Given the description of an element on the screen output the (x, y) to click on. 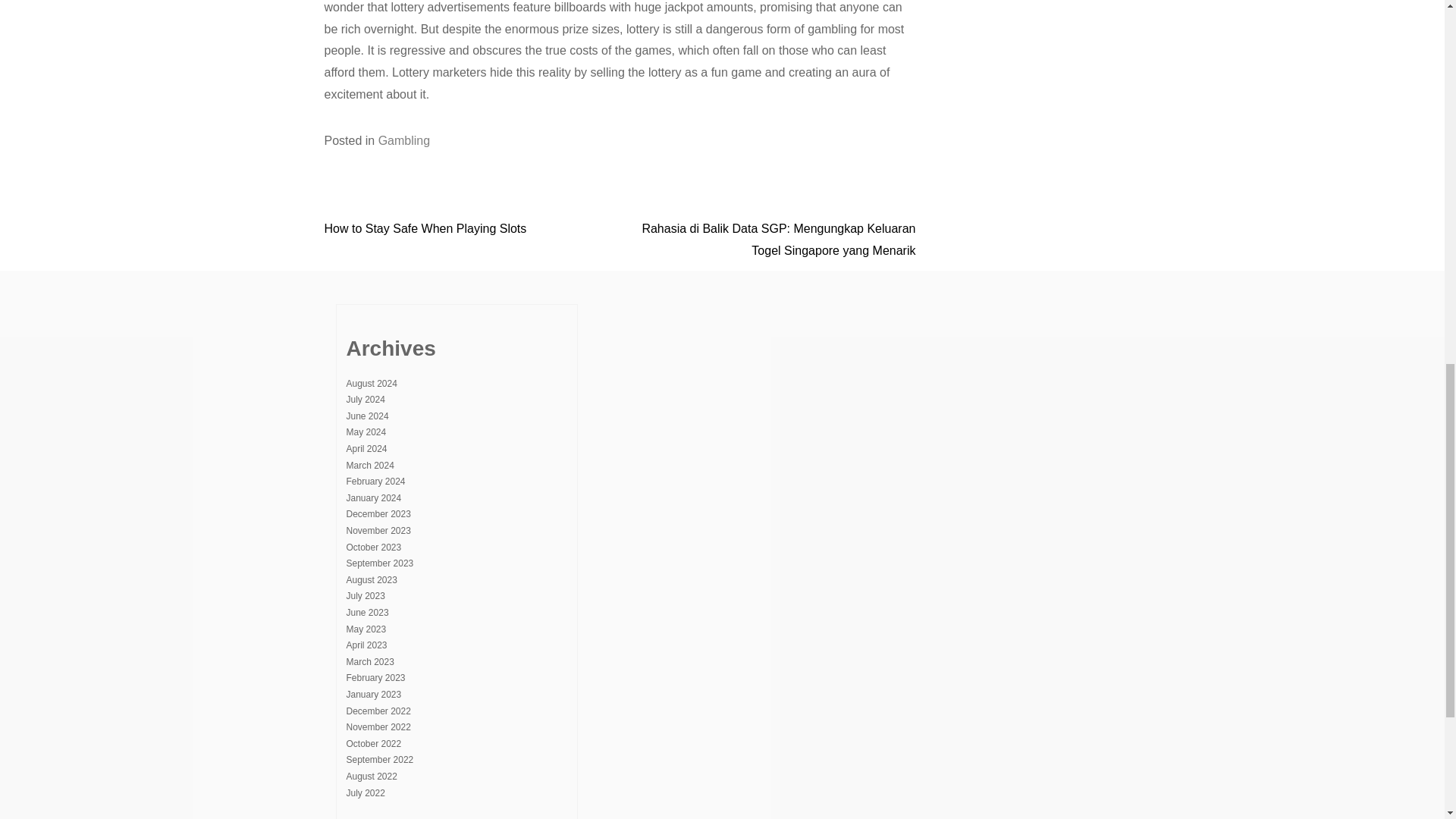
How to Stay Safe When Playing Slots (425, 228)
September 2023 (379, 562)
December 2023 (378, 513)
February 2024 (375, 480)
May 2023 (365, 629)
February 2023 (375, 677)
November 2023 (378, 530)
March 2023 (369, 661)
April 2023 (366, 644)
January 2023 (373, 694)
May 2024 (365, 431)
August 2023 (371, 579)
September 2022 (379, 759)
August 2024 (371, 383)
